Given the description of an element on the screen output the (x, y) to click on. 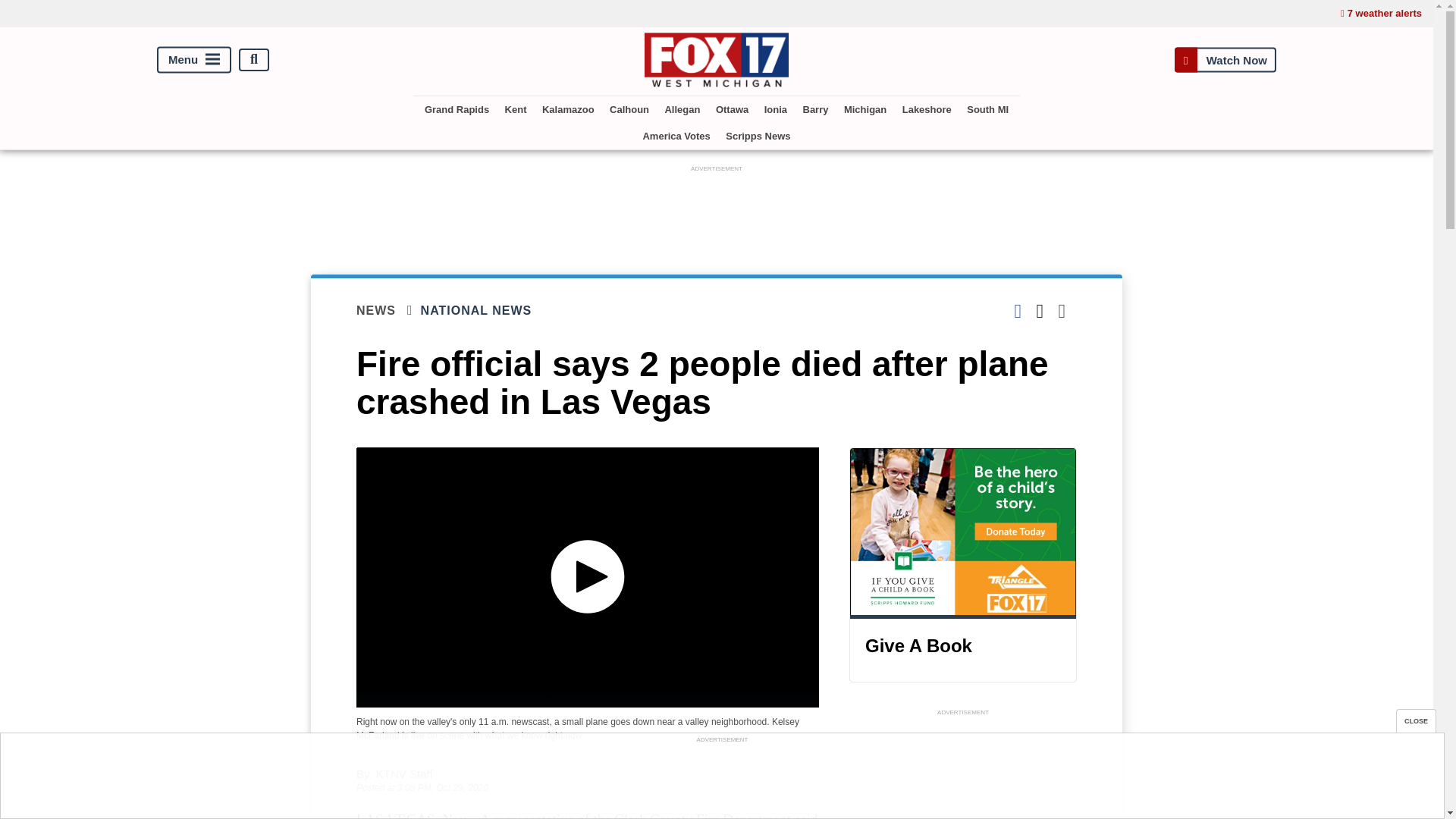
Watch Now (1224, 59)
3rd party ad content (962, 769)
3rd party ad content (721, 780)
3rd party ad content (716, 210)
Menu (194, 58)
